Given the description of an element on the screen output the (x, y) to click on. 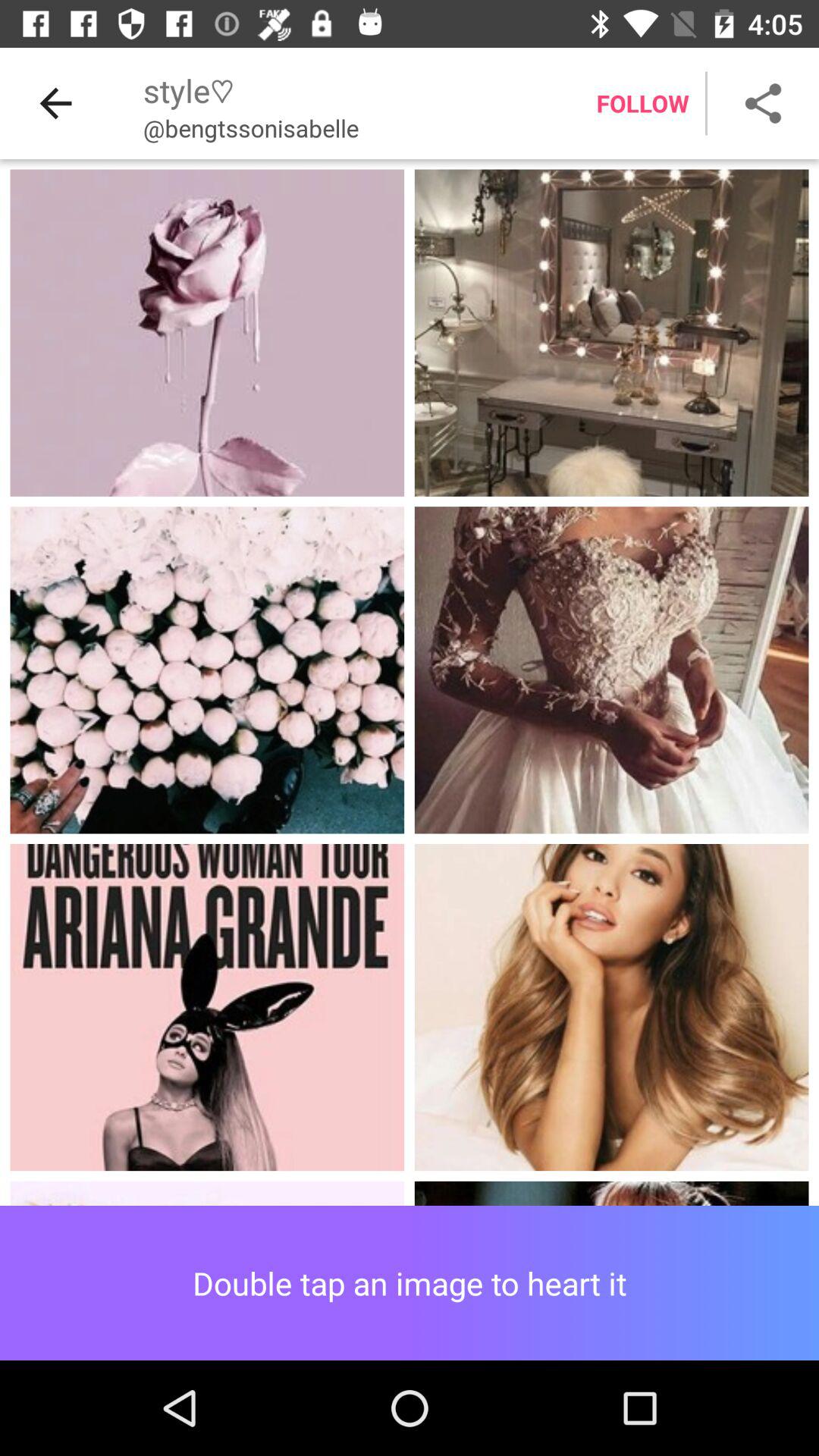
launch the follow item (642, 103)
